Given the description of an element on the screen output the (x, y) to click on. 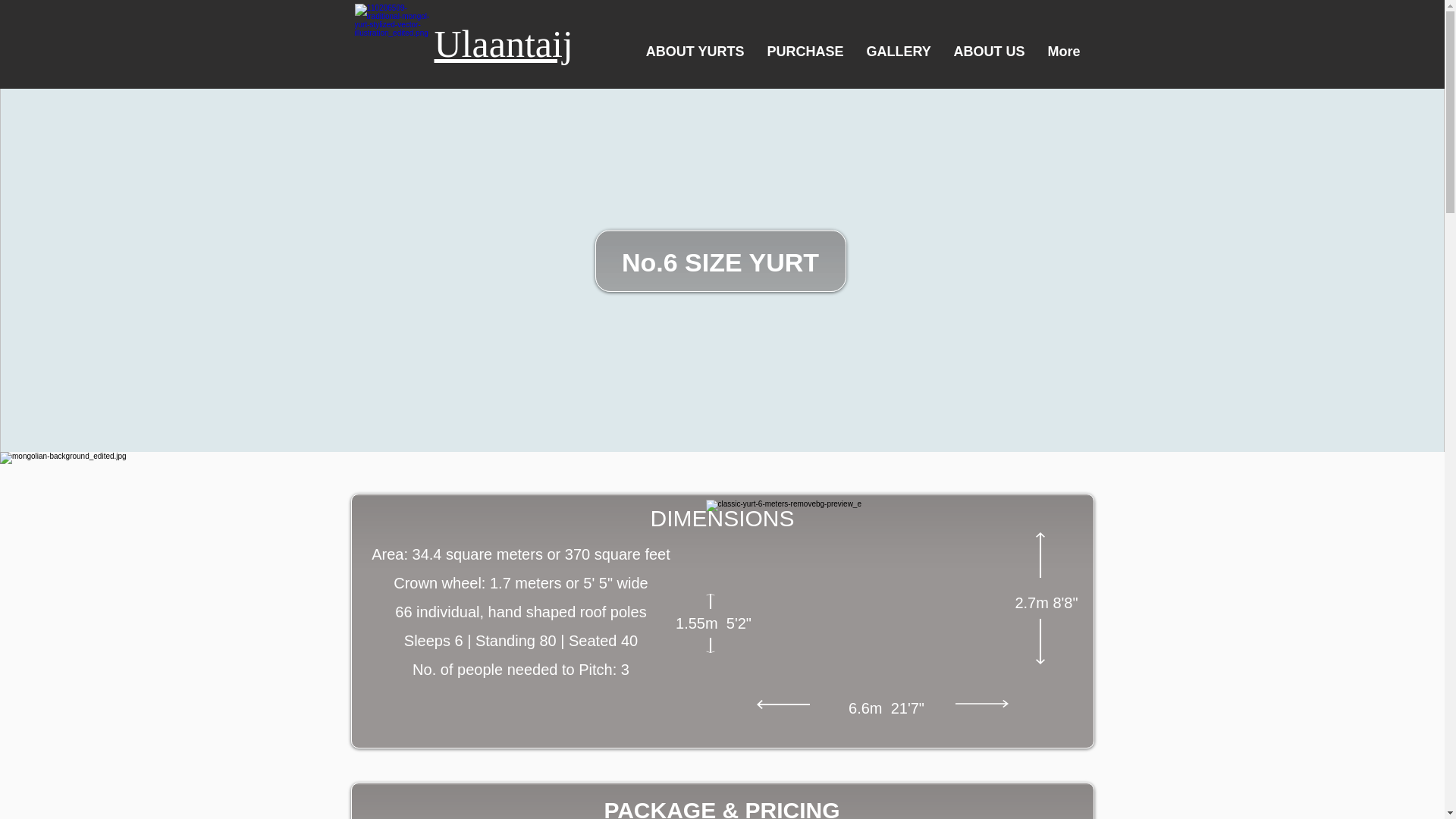
Ulaantaij (502, 43)
